Given the description of an element on the screen output the (x, y) to click on. 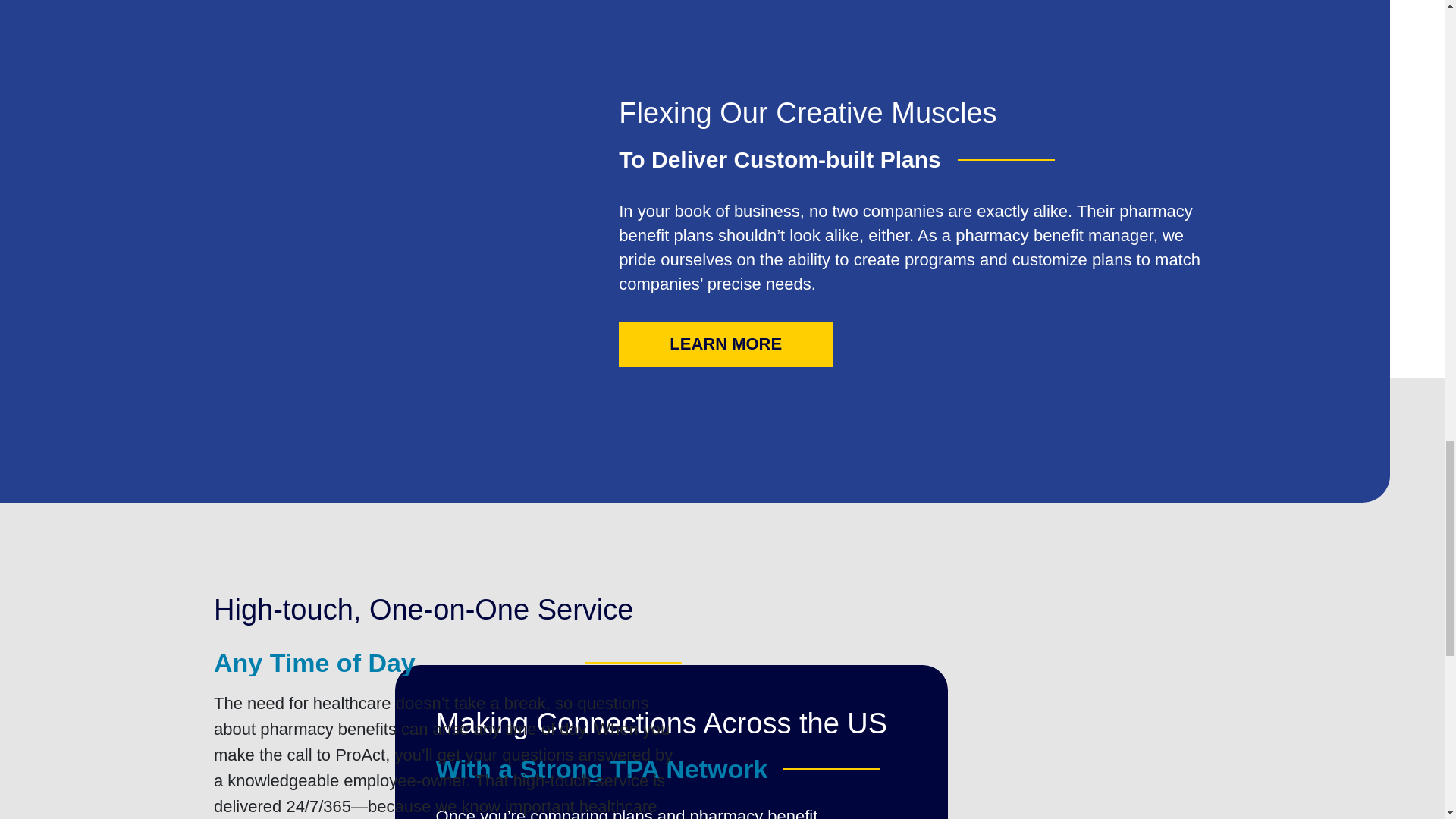
LEARN MORE (725, 343)
